Given the description of an element on the screen output the (x, y) to click on. 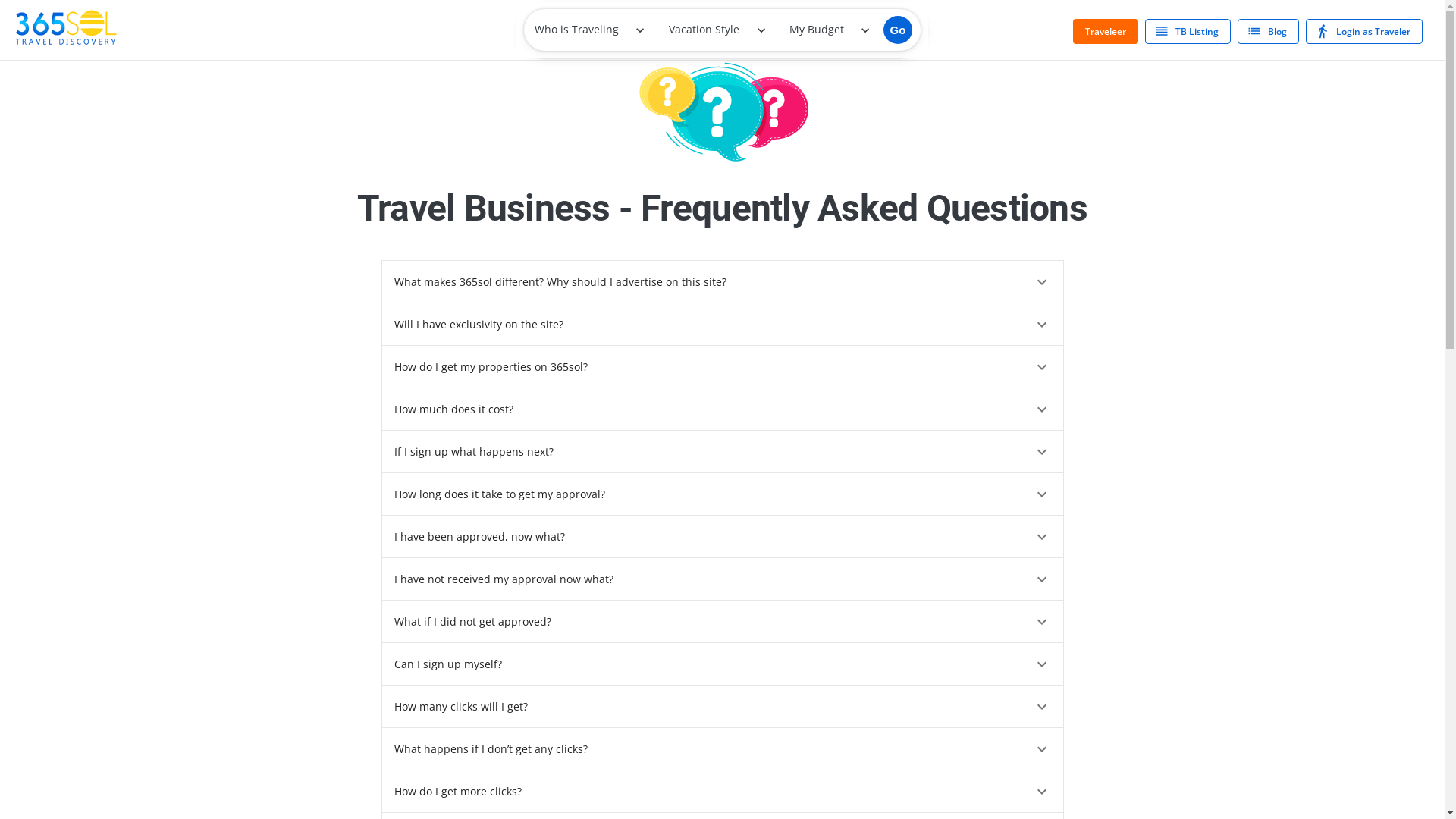
Blog Element type: text (1268, 30)
TB Listing Element type: text (1187, 30)
Vacation Style Element type: text (711, 29)
Go Element type: text (898, 29)
Login as Traveler Element type: text (1363, 30)
Who is Traveling Element type: text (587, 29)
Traveleer Element type: text (1105, 30)
My Budget Element type: text (823, 29)
